Given the description of an element on the screen output the (x, y) to click on. 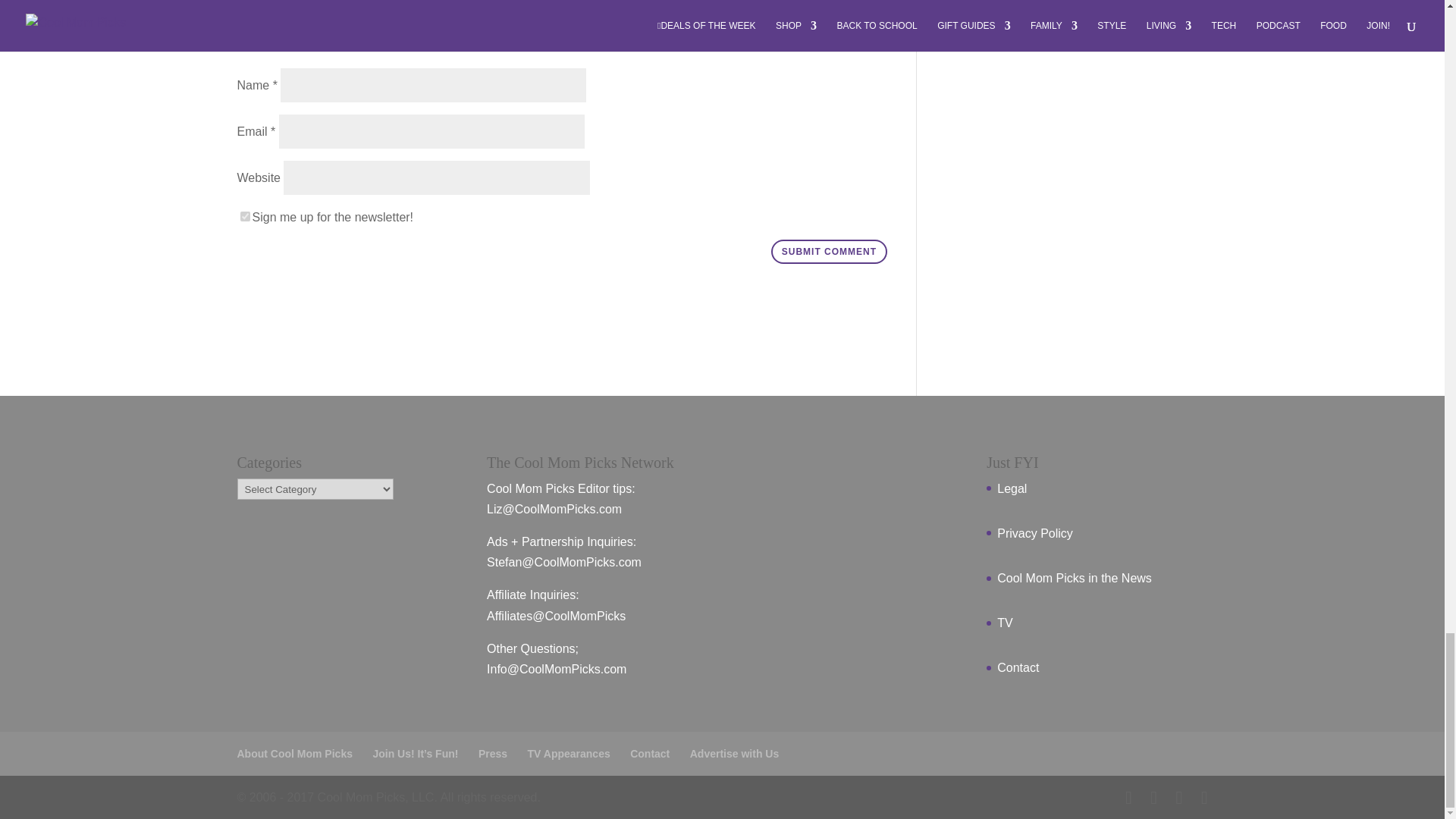
About Cool Mom Picks (293, 753)
Submit Comment (828, 251)
1 (244, 216)
